Given the description of an element on the screen output the (x, y) to click on. 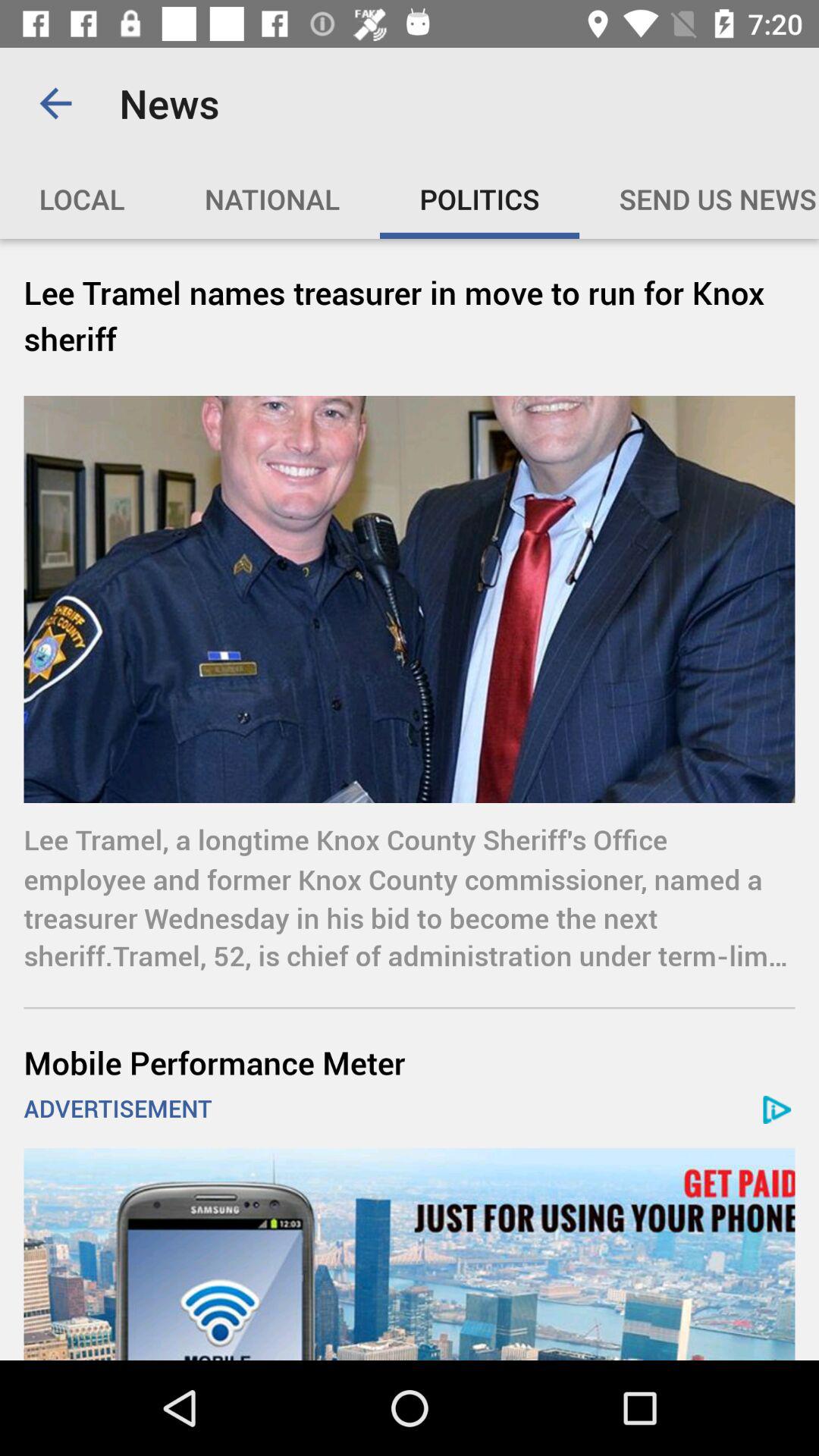
go to advertisement (409, 1254)
